Given the description of an element on the screen output the (x, y) to click on. 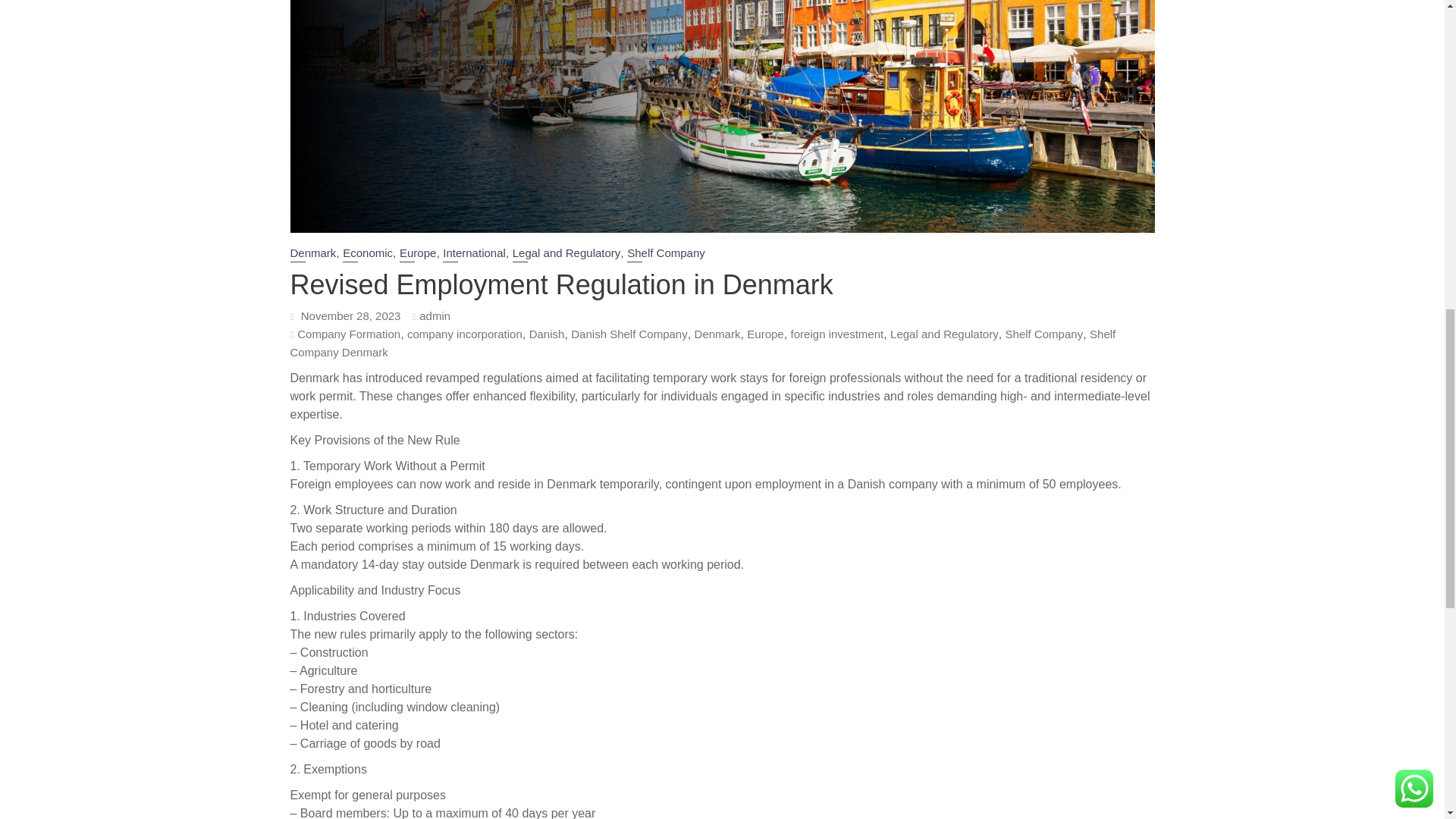
Denmark (312, 254)
Economic (367, 254)
company incorporation (464, 333)
admin (434, 315)
November 28, 2023 (351, 315)
International (473, 254)
Danish (546, 333)
Company Formation (348, 333)
Europe (416, 254)
Legal and Regulatory (566, 254)
Shelf Company (665, 254)
